Given the description of an element on the screen output the (x, y) to click on. 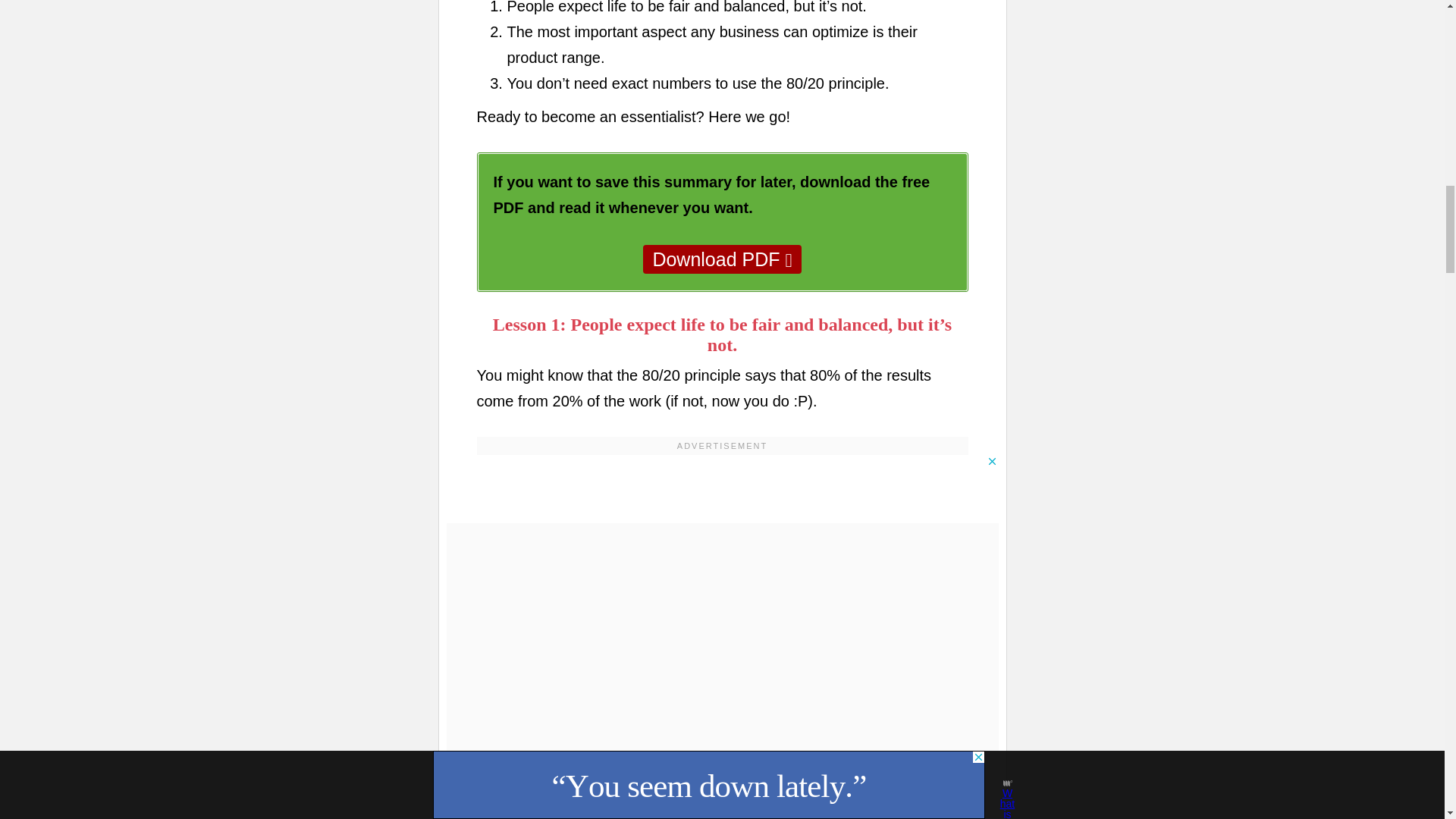
3rd party ad content (721, 489)
